Given the description of an element on the screen output the (x, y) to click on. 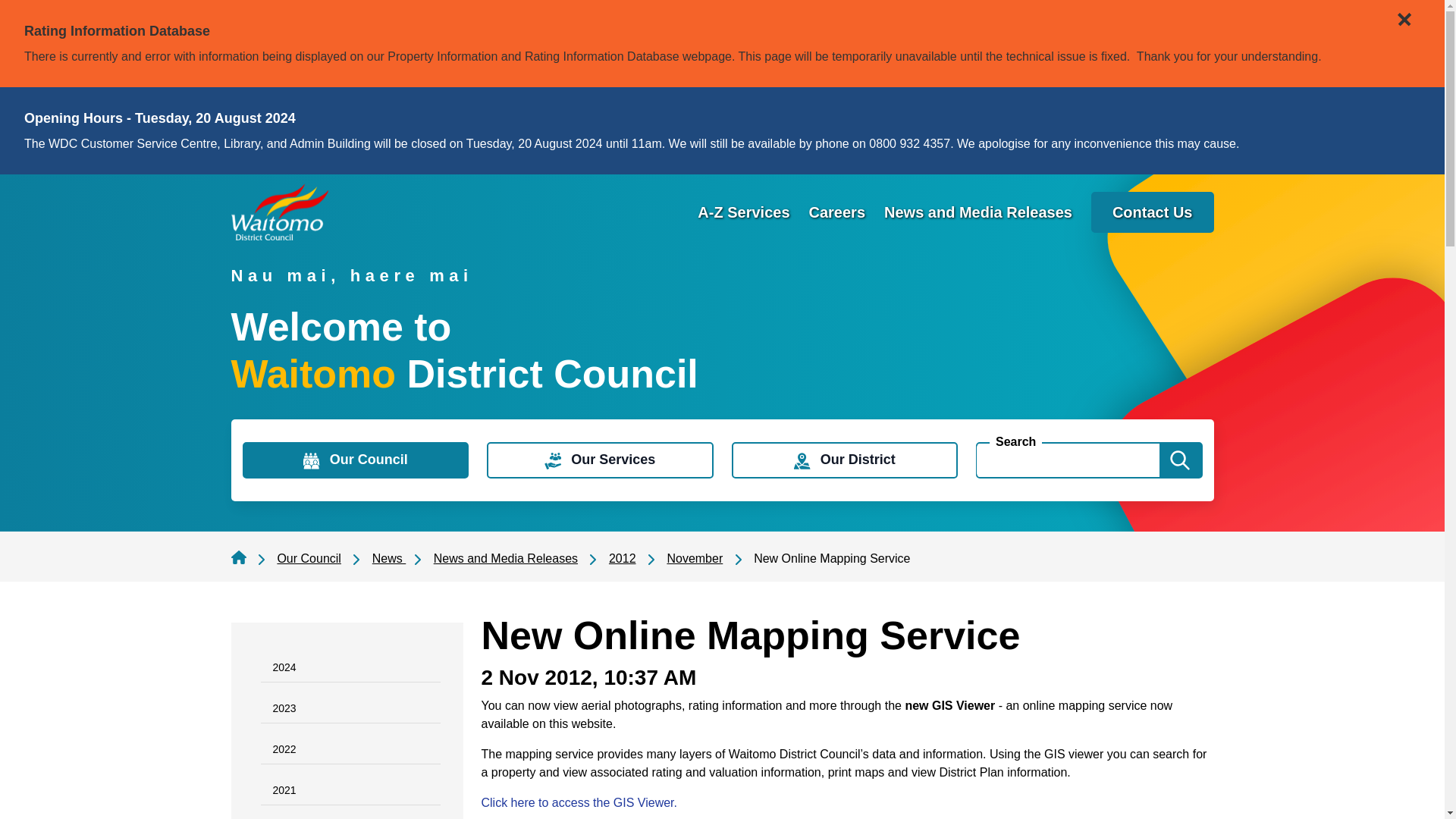
Open Notification (1401, 12)
Contact Us (1152, 210)
A-Z Services (743, 210)
Careers (837, 210)
Home (278, 210)
Our Council (355, 460)
Our Services (599, 460)
News and Media Releases (977, 210)
